Given the description of an element on the screen output the (x, y) to click on. 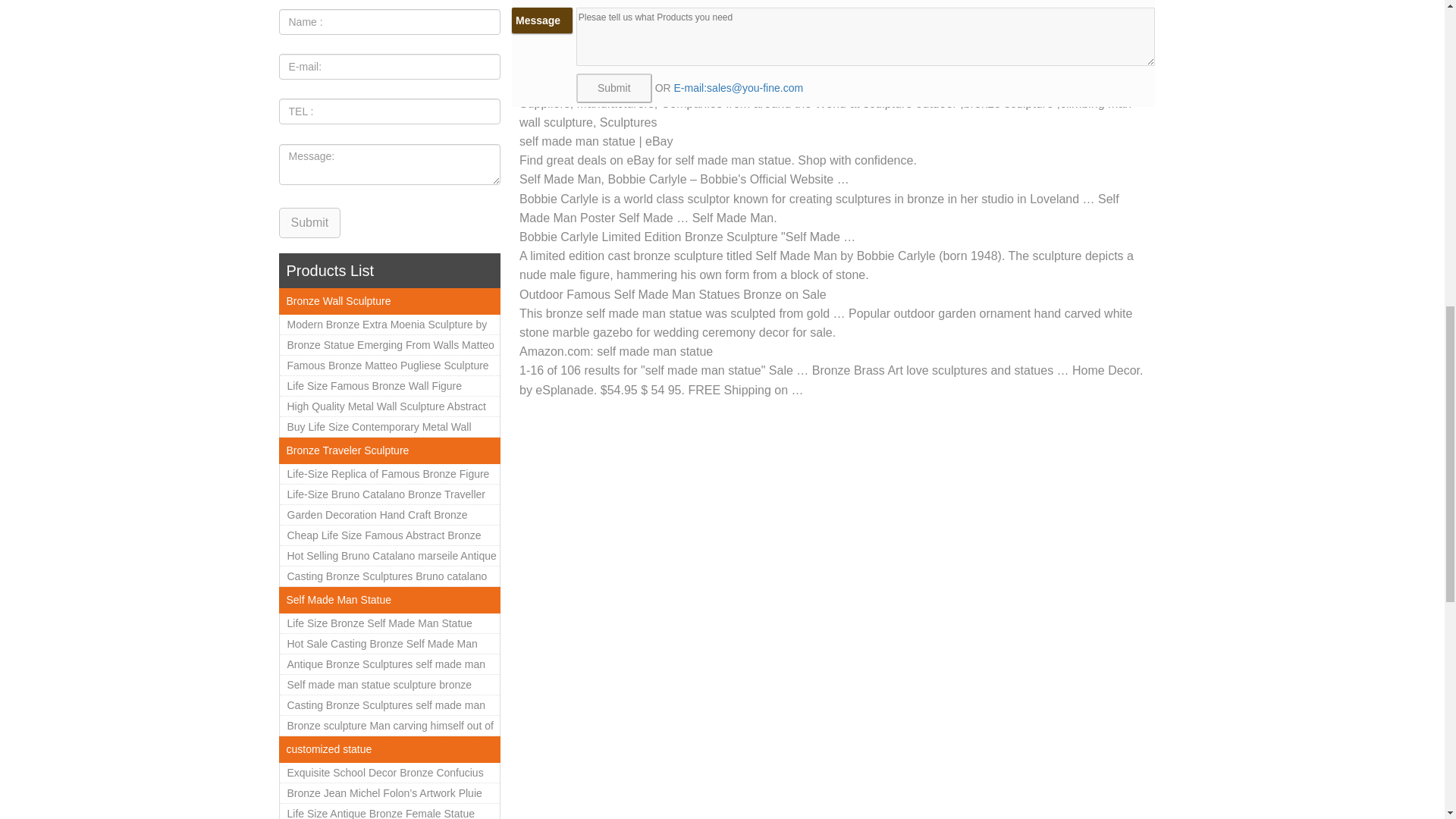
High Quality Metal Wall Sculpture Abstract for Sale BOKK-834 (389, 406)
Submit (309, 223)
Hot Sale Casting Bronze Self Made Man Statue for Sale (389, 643)
Bronze Traveler Sculpture (347, 450)
Garden Decoration Hand Craft Bronze Traveler Sculpture (389, 515)
